Given the description of an element on the screen output the (x, y) to click on. 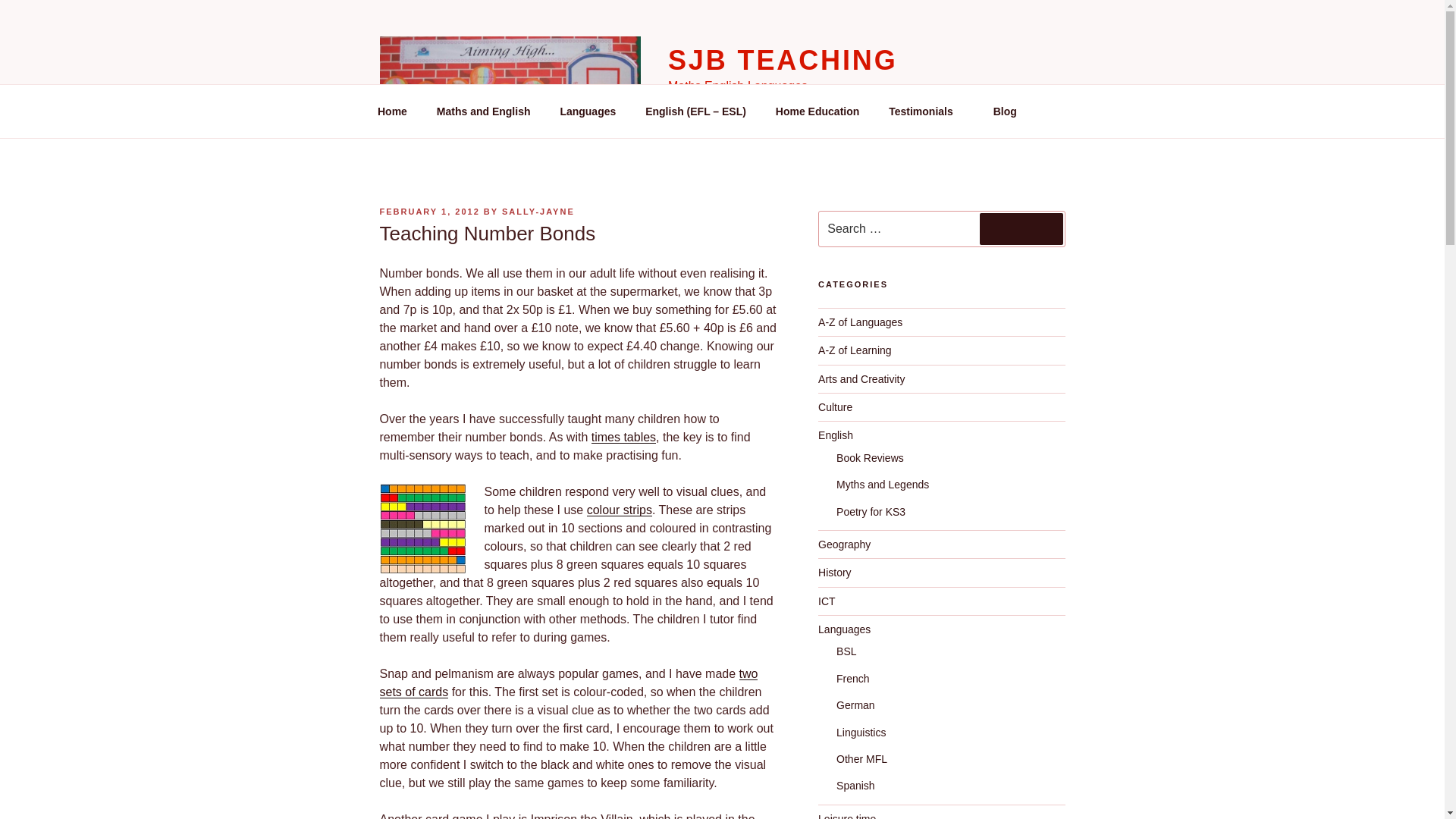
Home (392, 110)
times tables (623, 436)
SJB TEACHING (783, 60)
colour strips (619, 509)
SALLY-JAYNE (538, 211)
Home Education (816, 110)
Maths and English (483, 110)
Languages (587, 110)
Testimonials (926, 110)
two sets of cards (567, 682)
